Given the description of an element on the screen output the (x, y) to click on. 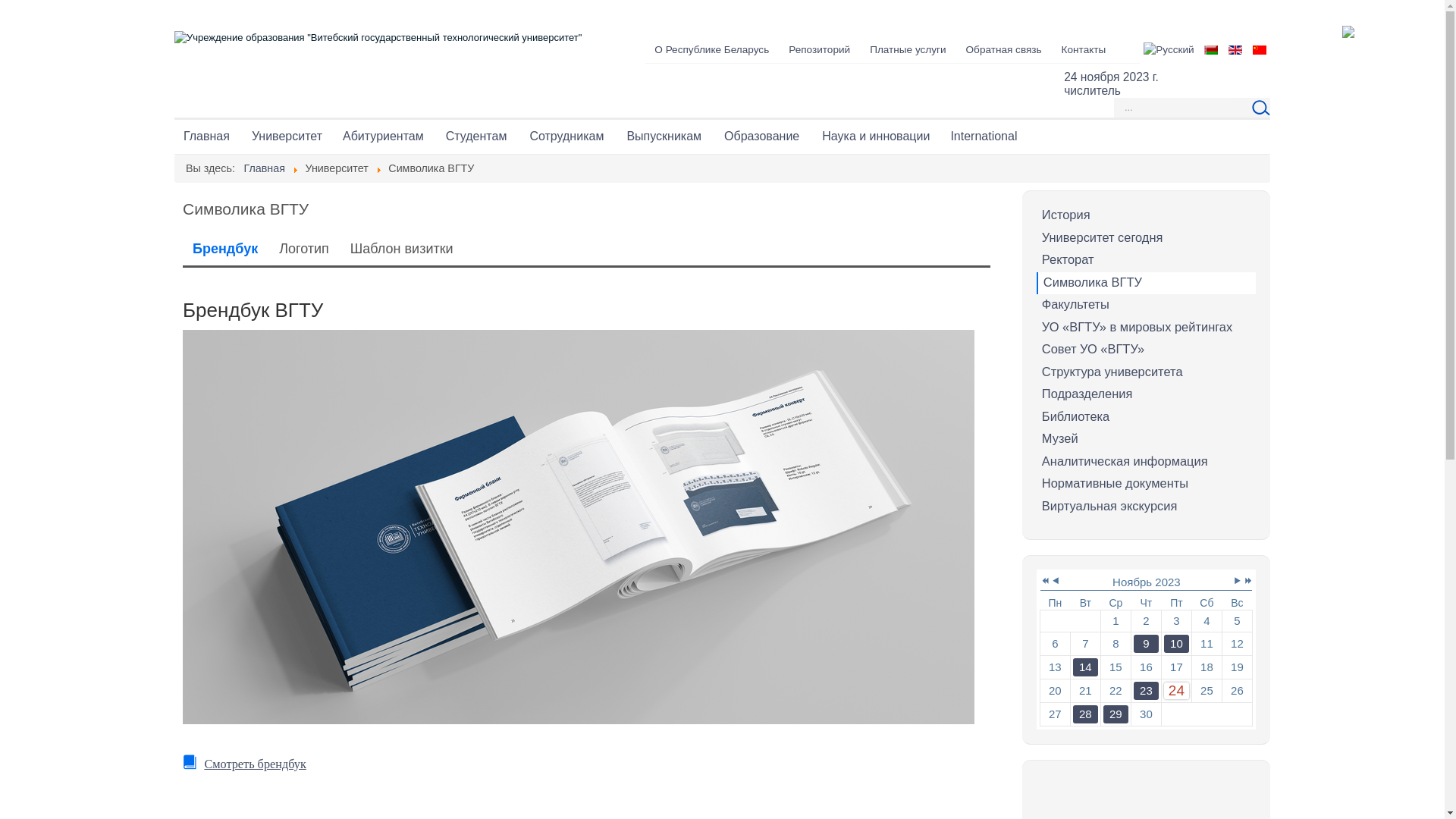
10 Element type: text (1176, 643)
English Element type: hover (1235, 49)
14 Element type: text (1085, 666)
29 Element type: text (1115, 714)
28 Element type: text (1085, 714)
23 Element type: text (1145, 690)
International Element type: text (983, 136)
9 Element type: text (1145, 643)
